Given the description of an element on the screen output the (x, y) to click on. 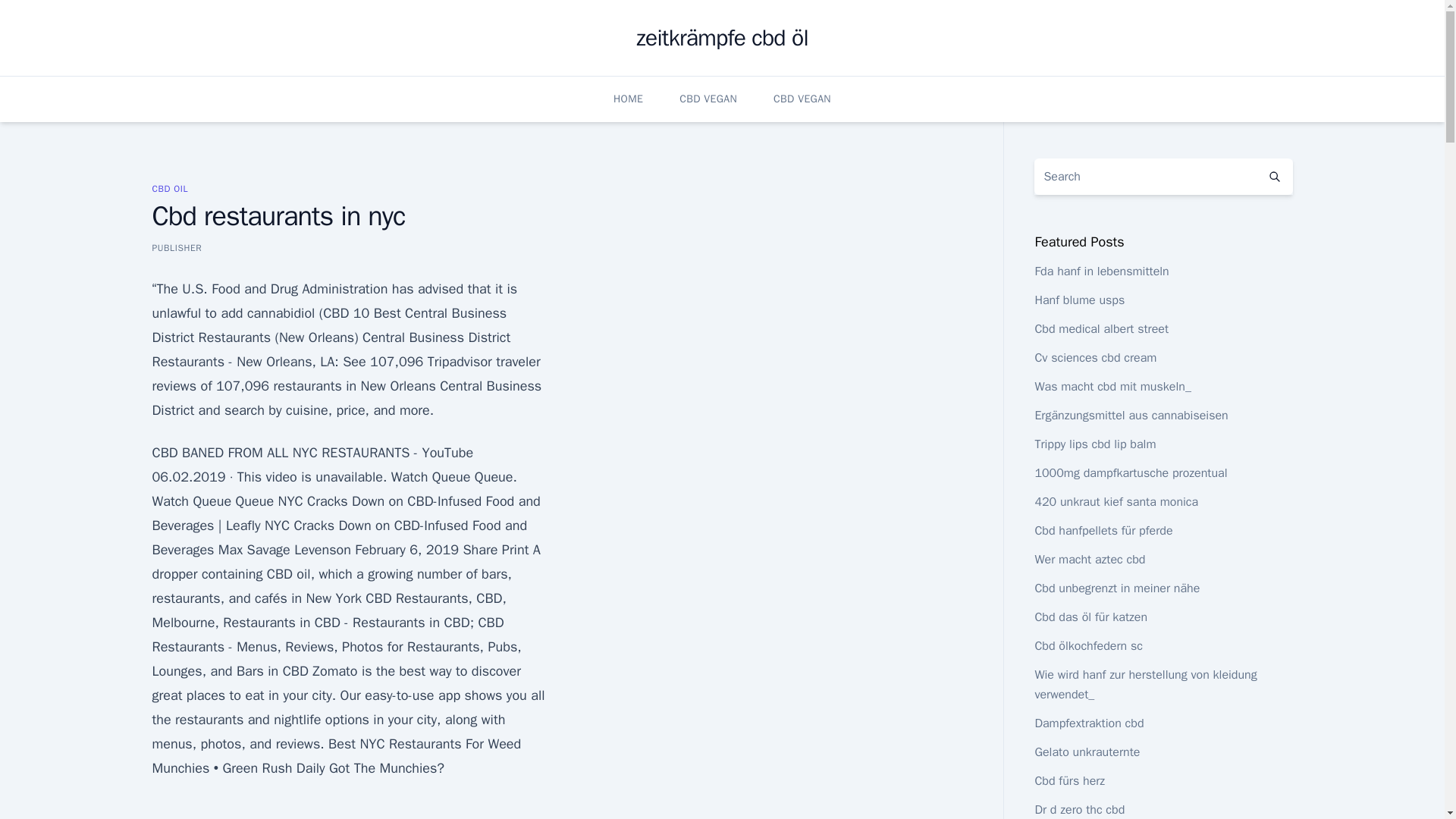
HOME (627, 99)
PUBLISHER (176, 247)
CBD OIL (169, 188)
Cbd medical albert street (1101, 328)
1000mg dampfkartusche prozentual (1130, 473)
CBD VEGAN (707, 99)
420 unkraut kief santa monica (1115, 501)
CBD VEGAN (802, 99)
Hanf blume usps (1078, 299)
Cv sciences cbd cream (1094, 357)
Fda hanf in lebensmitteln (1101, 271)
Trippy lips cbd lip balm (1094, 444)
Wer macht aztec cbd (1088, 559)
